Given the description of an element on the screen output the (x, y) to click on. 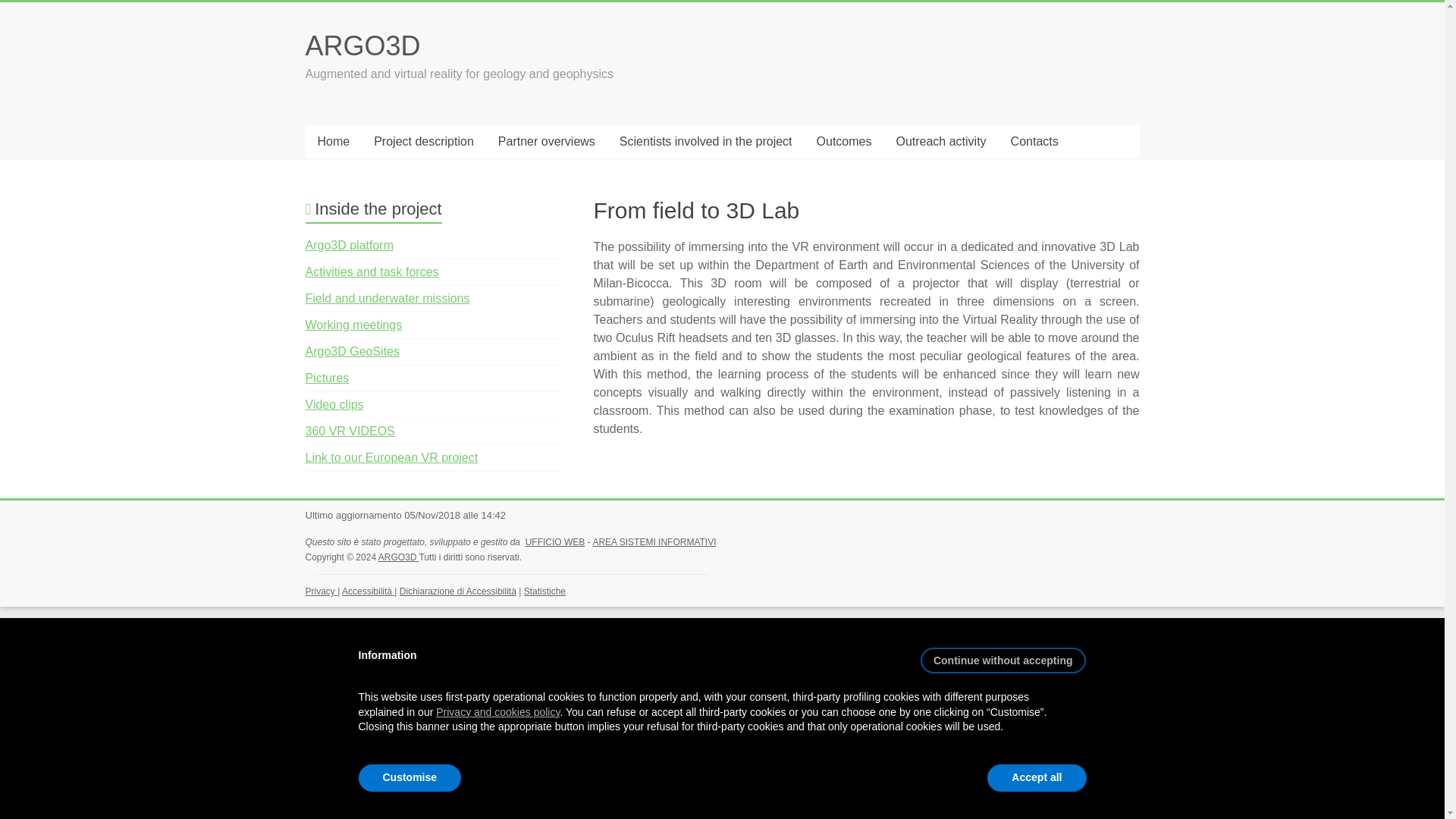
360 VR VIDEOS (349, 431)
Link to our European VR project (390, 457)
Video clips (333, 404)
Pictures (326, 377)
Contacts (1034, 141)
Privacy (320, 591)
Partner overviews (546, 141)
ARGO3D (398, 557)
ARGO3D (362, 45)
AREA SISTEMI INFORMATIVI (654, 542)
UFFICIO WEB (555, 542)
ARGO3D (398, 557)
Home (332, 141)
Scientists involved in the project (706, 141)
Argo3D GeoSites (351, 350)
